Given the description of an element on the screen output the (x, y) to click on. 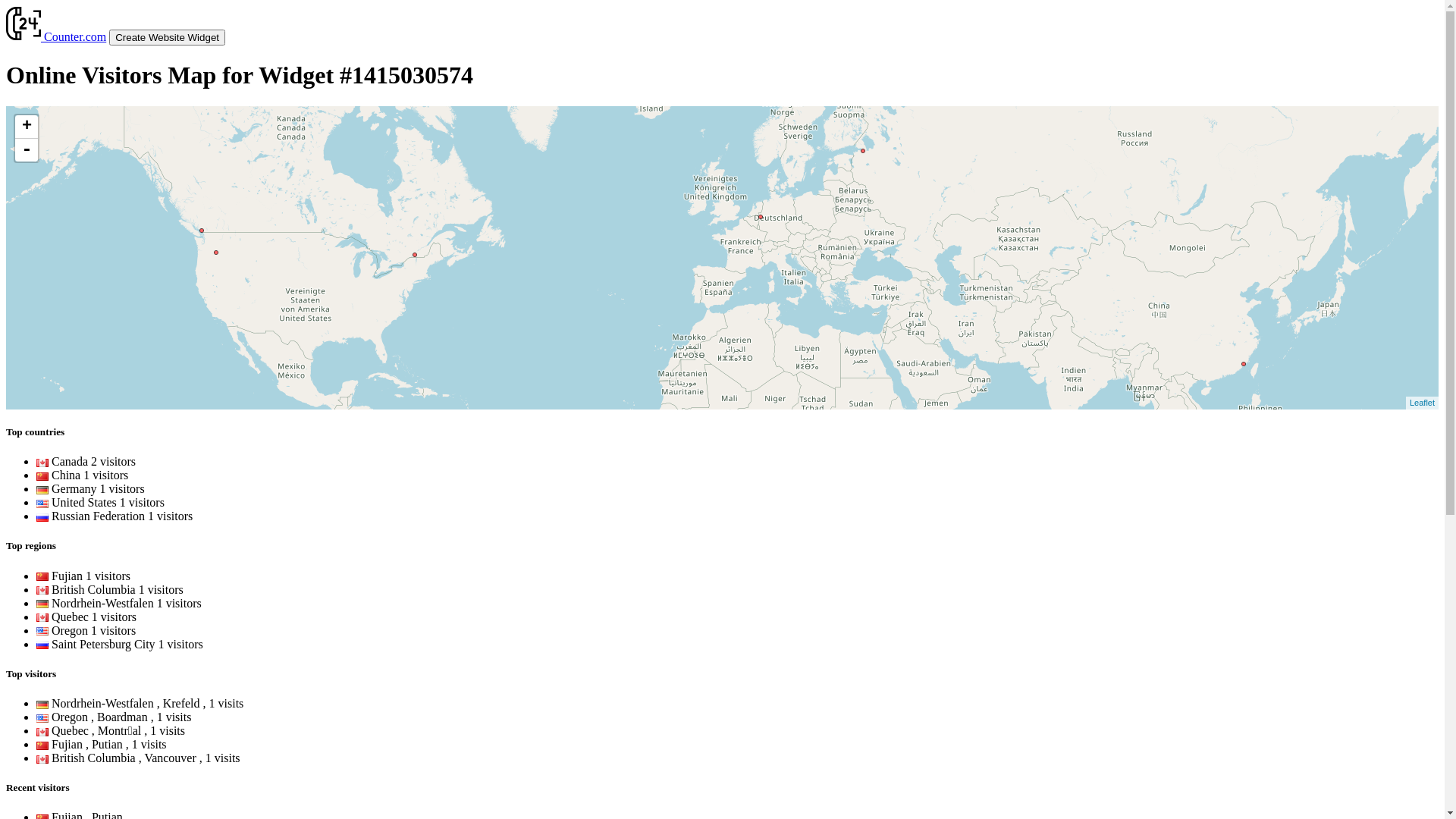
Create Website Widget Element type: text (167, 37)
United States Element type: hover (42, 718)
+ Element type: text (26, 126)
Leaflet Element type: text (1421, 402)
Russian Federation Element type: hover (42, 517)
- Element type: text (26, 149)
Counter.com Element type: text (56, 36)
Germany Element type: hover (42, 490)
Germany Element type: hover (42, 704)
China Element type: hover (42, 476)
United States Element type: hover (42, 503)
Canada Element type: hover (42, 759)
Canada Element type: hover (42, 732)
Canada Element type: hover (42, 462)
China Element type: hover (42, 745)
